Given the description of an element on the screen output the (x, y) to click on. 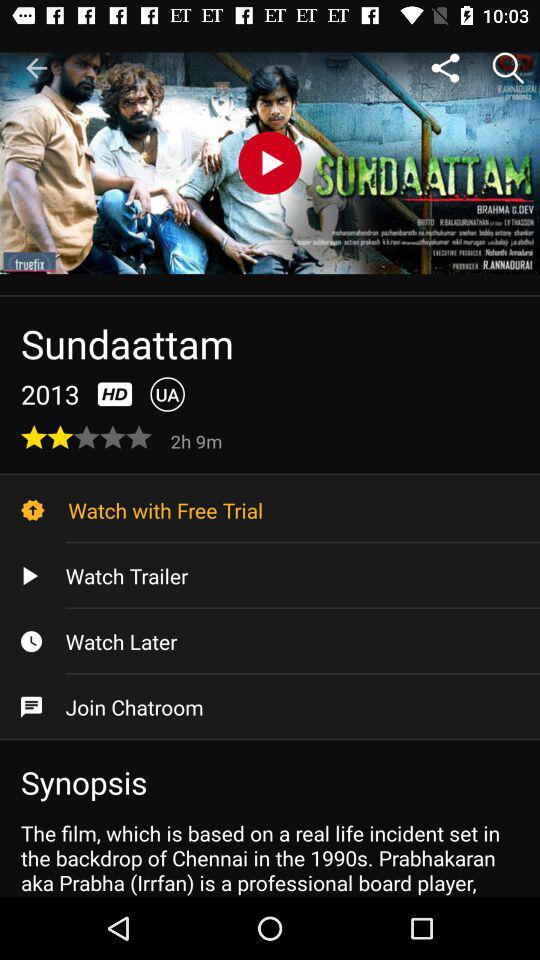
turn on icon below the ua item (198, 440)
